Given the description of an element on the screen output the (x, y) to click on. 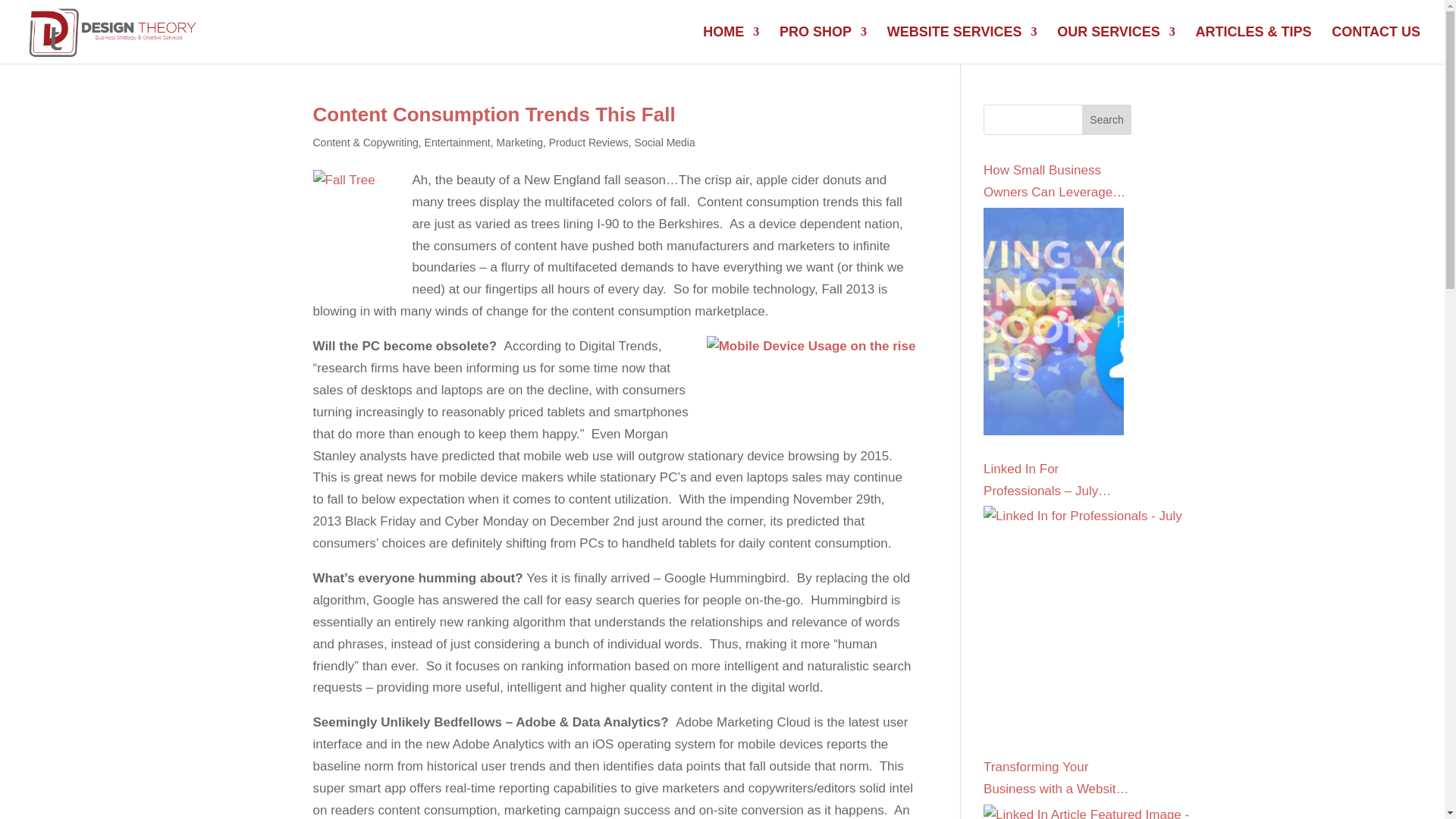
Entertainment (457, 142)
Transforming Your Business with a Website Redesign (1057, 787)
OUR SERVICES (1115, 44)
WEBSITE SERVICES (961, 44)
Marketing (519, 142)
HOME (730, 44)
Product Reviews (588, 142)
Search (1106, 119)
PRO SHOP (822, 44)
Search (1106, 119)
CONTACT US (1376, 44)
Social Media (664, 142)
Content Consumption Trends This Fall (494, 114)
